Given the description of an element on the screen output the (x, y) to click on. 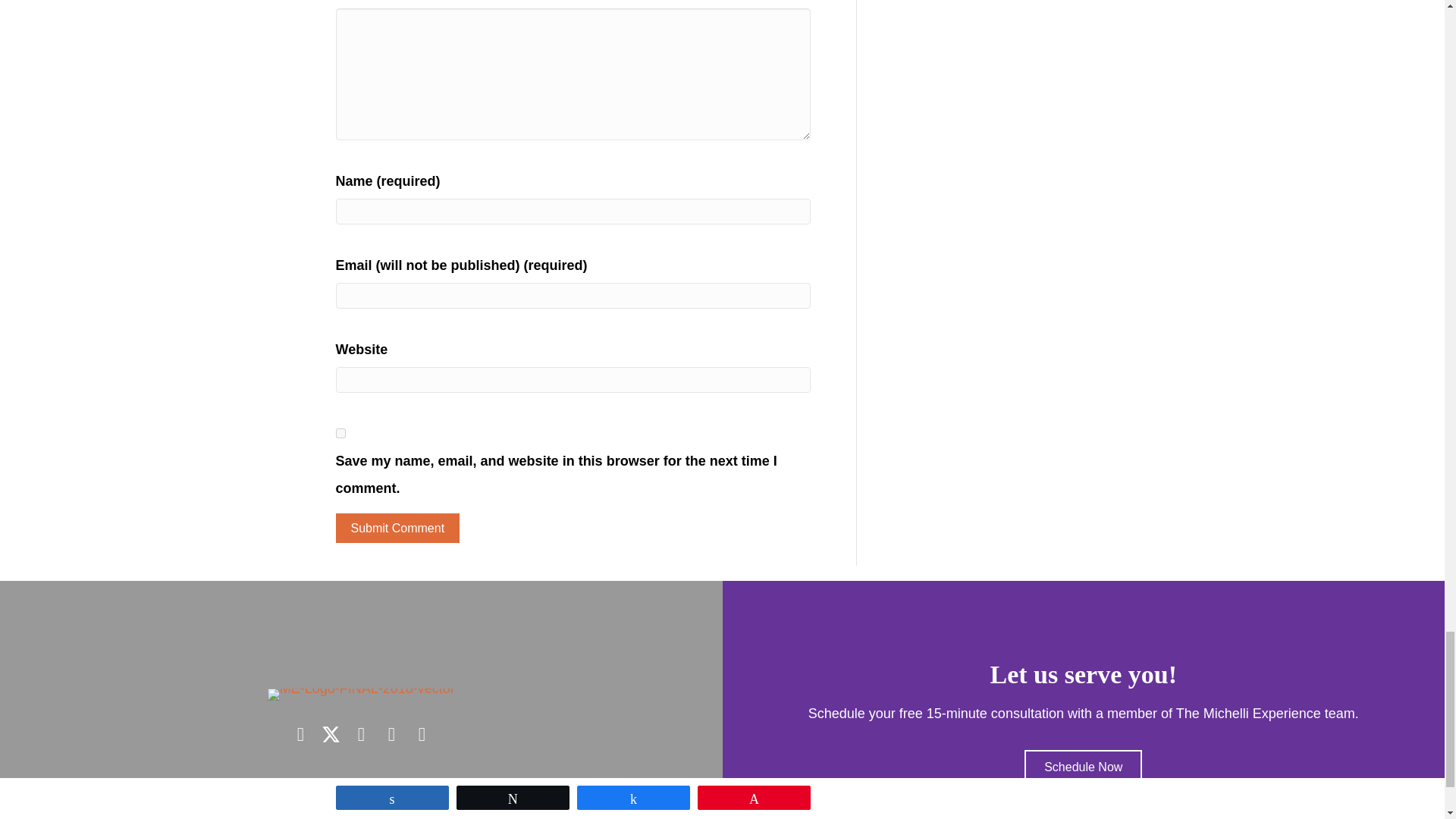
ME-Logo-FINAL-2018-vector (360, 694)
Click Here (1083, 767)
Submit Comment (397, 527)
yes (339, 433)
Facebook (299, 734)
Submit Comment (397, 527)
